Given the description of an element on the screen output the (x, y) to click on. 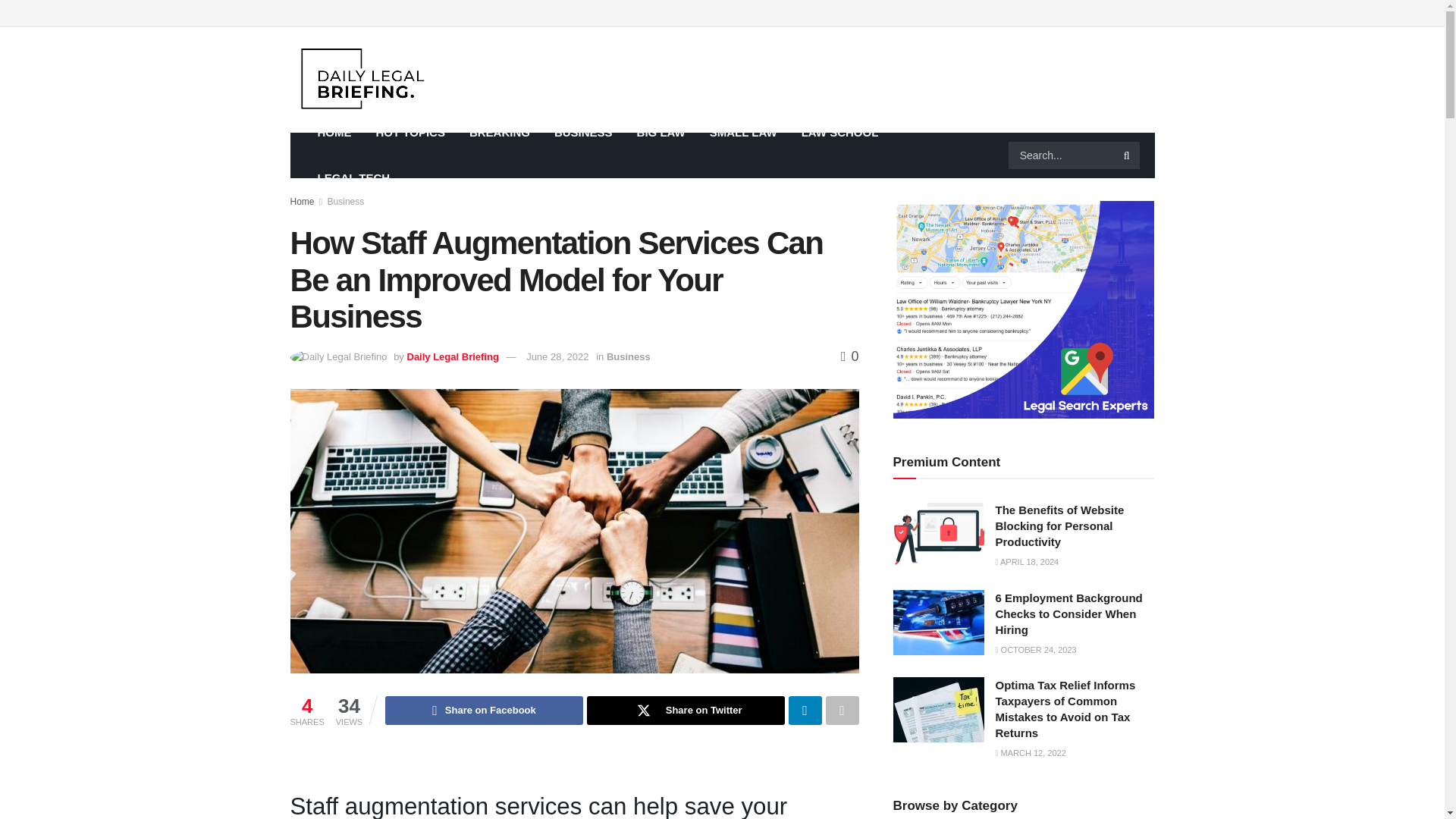
LAW SCHOOL (840, 132)
LEGAL TECH (352, 177)
BUSINESS (582, 132)
June 28, 2022 (556, 356)
Share on Facebook (484, 710)
SMALL LAW (743, 132)
HOT TOPICS (410, 132)
Home (301, 201)
Daily Legal Briefing (451, 356)
BREAKING (499, 132)
BIG LAW (660, 132)
Share on Twitter (685, 710)
Business (628, 356)
0 (850, 355)
Business (346, 201)
